Given the description of an element on the screen output the (x, y) to click on. 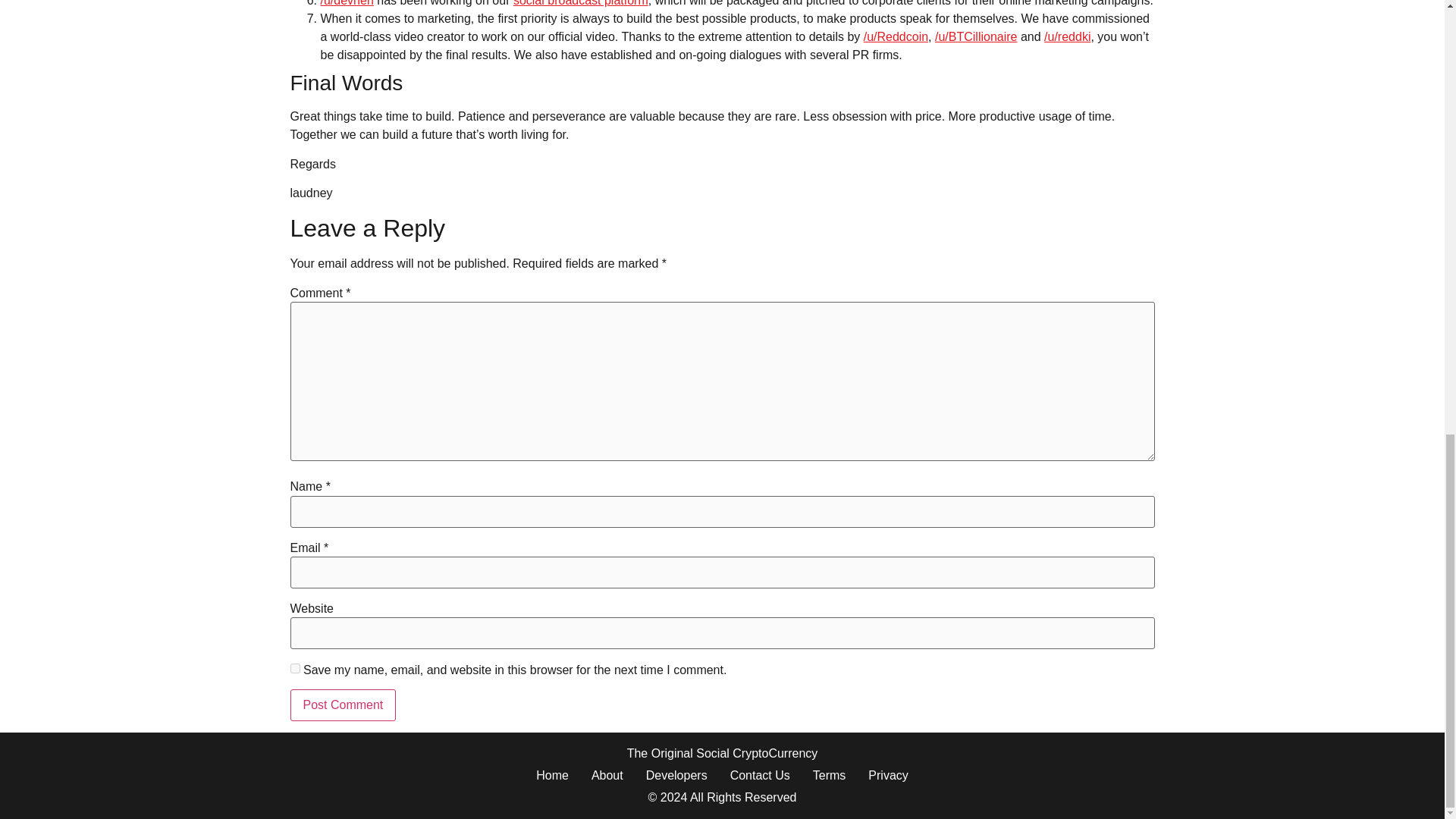
social broadcast platform (580, 3)
yes (294, 668)
Post Comment (342, 705)
